Given the description of an element on the screen output the (x, y) to click on. 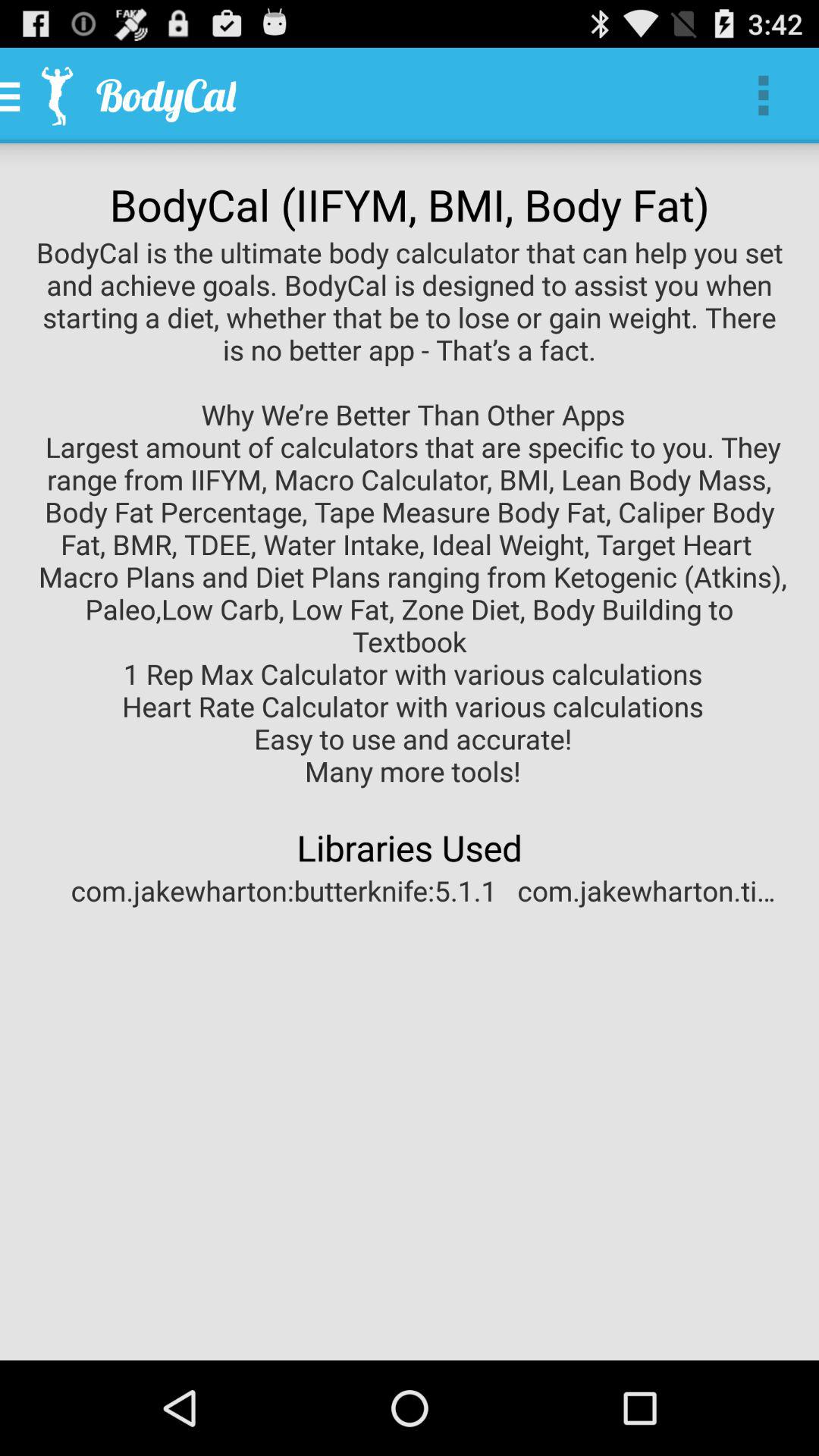
open the item to the right of the bodycal (763, 95)
